Given the description of an element on the screen output the (x, y) to click on. 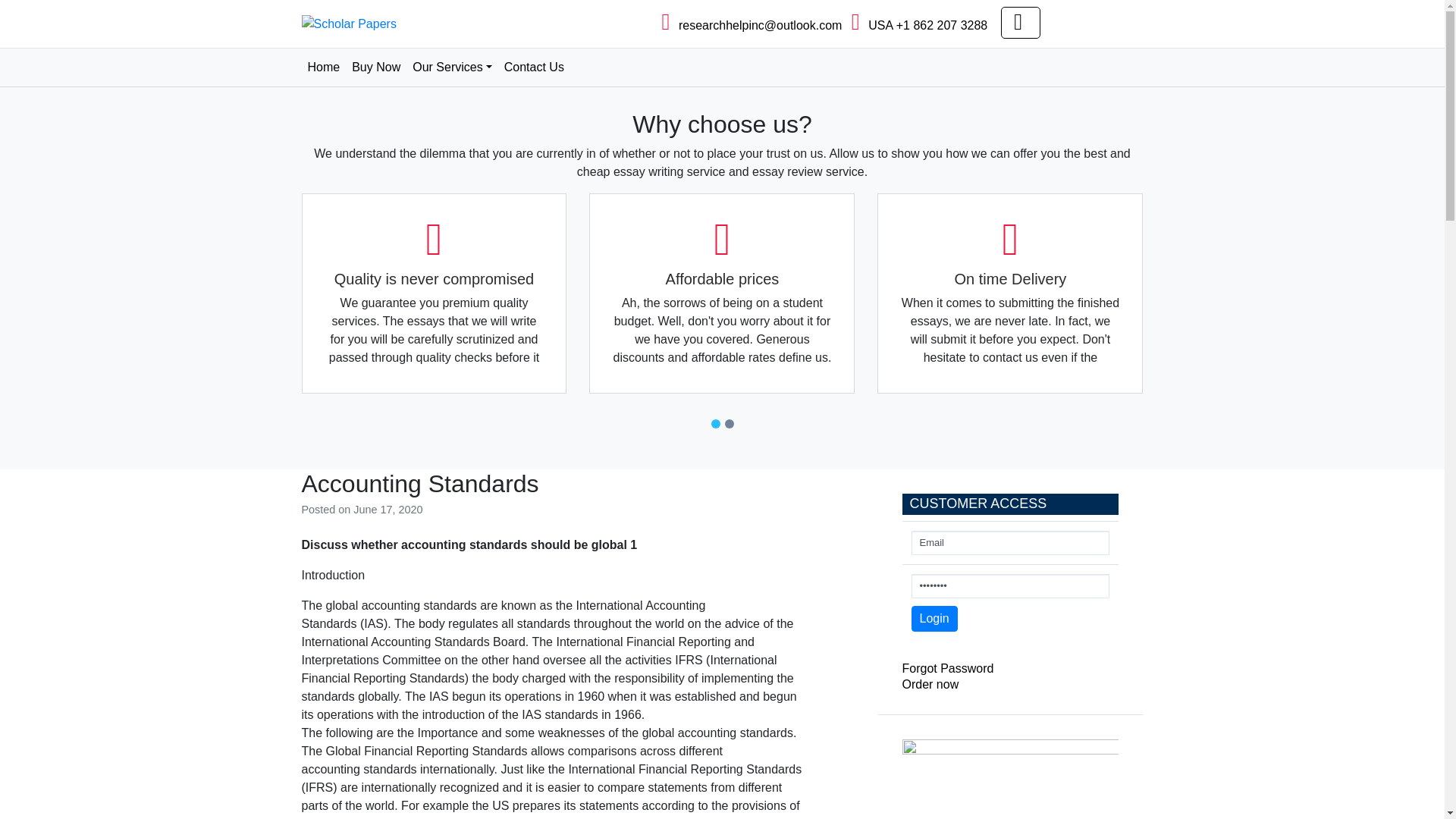
June 17, 2020 (387, 509)
Buy Now (376, 67)
Affordable prices (721, 294)
Contact Us (533, 67)
On time Delivery (1010, 294)
Scholar Papers (363, 48)
Order now (930, 684)
Email (1010, 542)
Login (934, 618)
Home (323, 67)
